Given the description of an element on the screen output the (x, y) to click on. 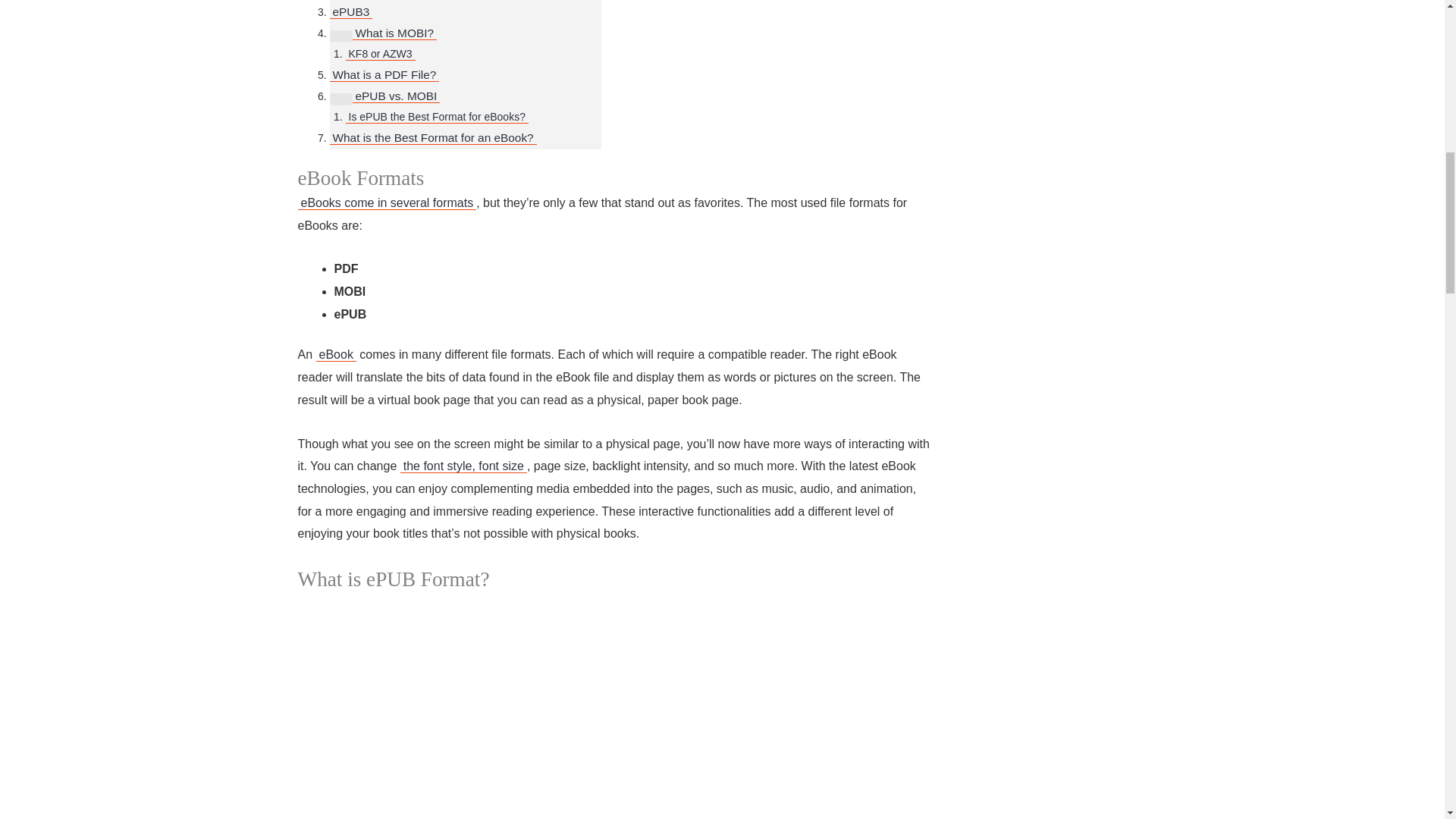
ePUB vs. MOBI (395, 96)
the font style, font size (463, 466)
eBook (335, 354)
ePUB3 (350, 11)
KF8 or AZW3 (380, 53)
Is ePUB the Best Format for eBooks? (437, 116)
What is a PDF File? (384, 74)
eBooks come in several formats (386, 202)
What is MOBI? (393, 33)
What is the Best Format for an eBook? (432, 137)
